Given the description of an element on the screen output the (x, y) to click on. 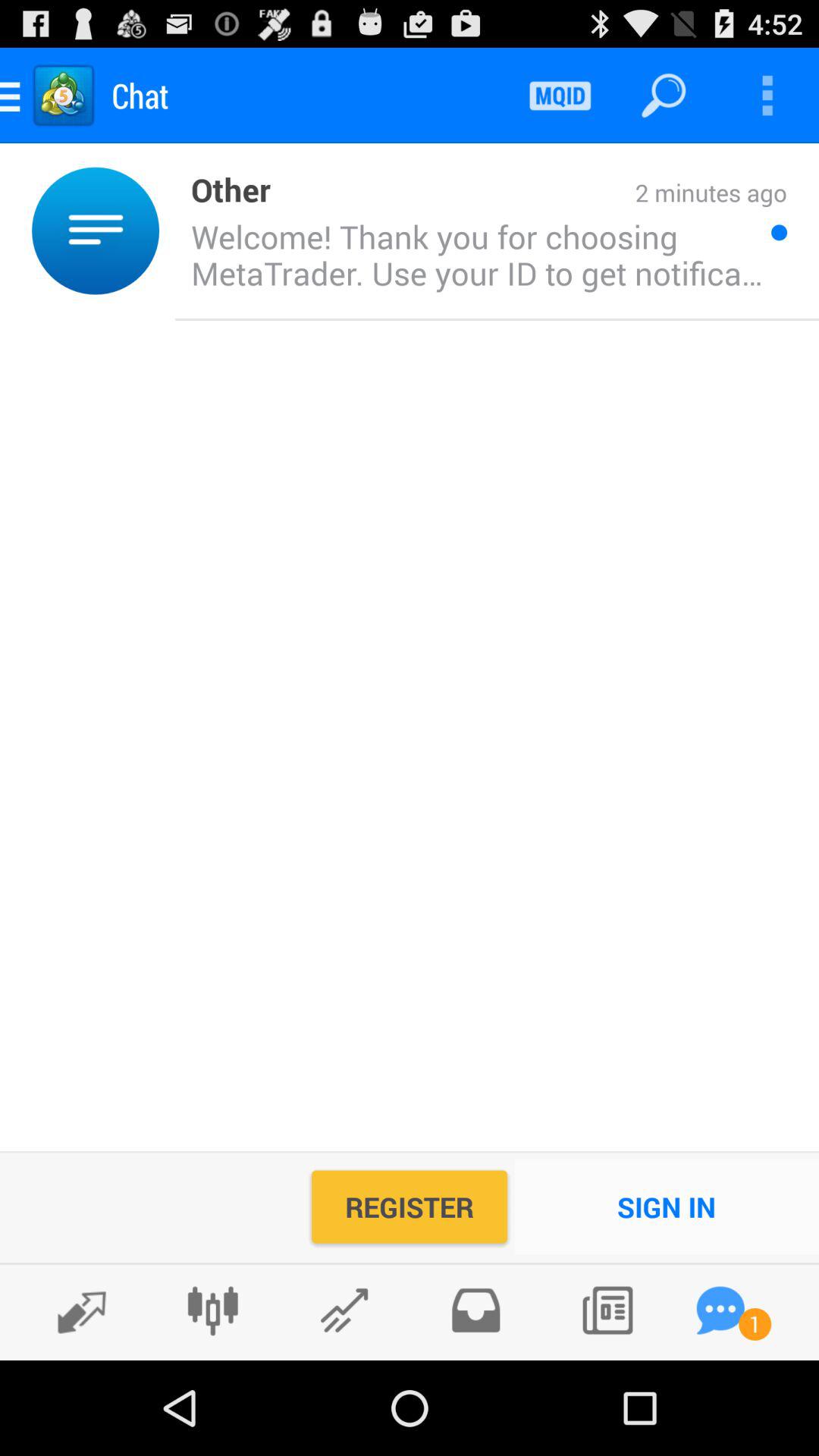
check outbox (475, 1310)
